Given the description of an element on the screen output the (x, y) to click on. 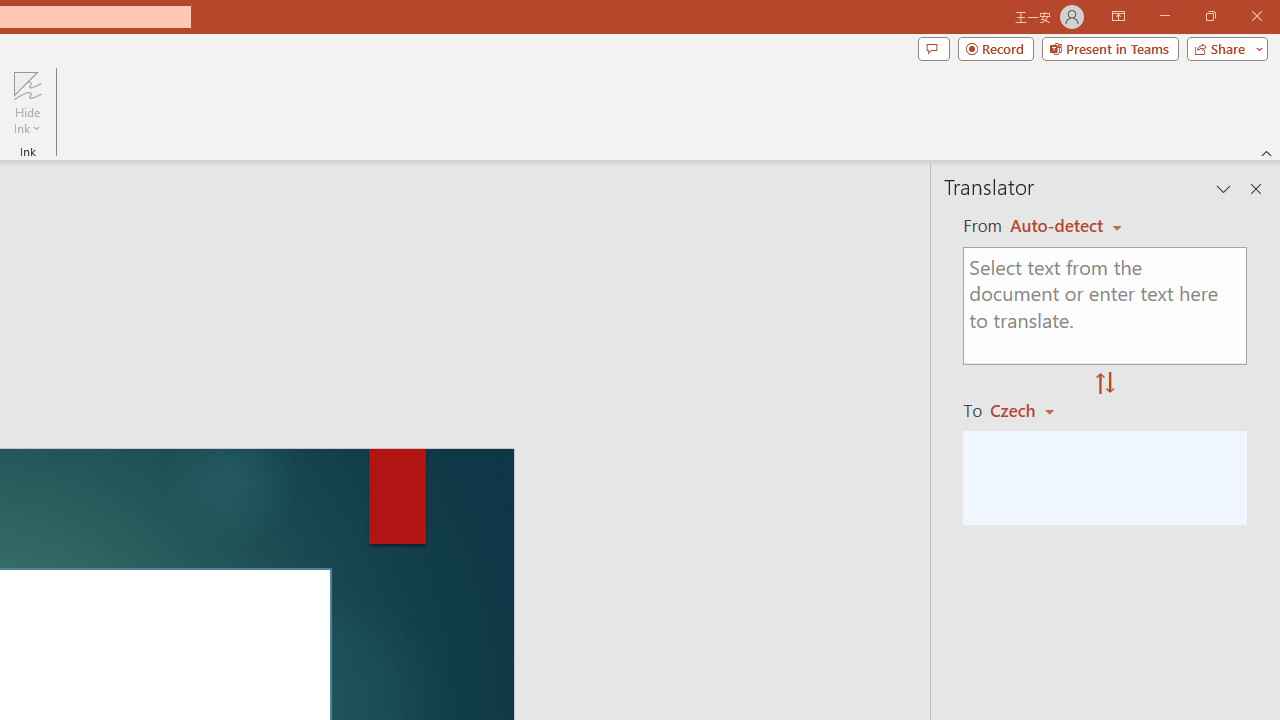
Czech (1030, 409)
